Given the description of an element on the screen output the (x, y) to click on. 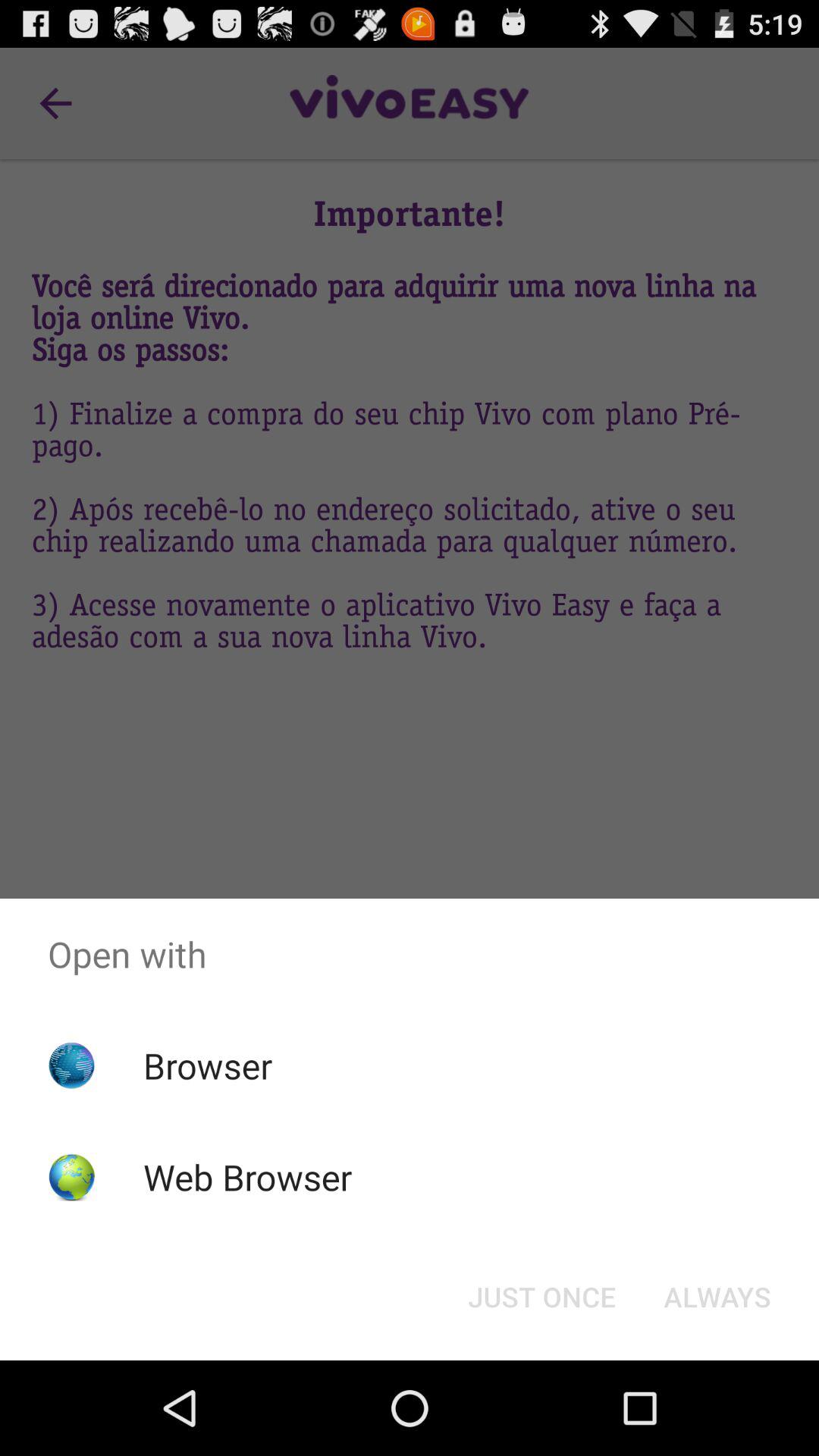
press icon next to the just once button (717, 1296)
